Given the description of an element on the screen output the (x, y) to click on. 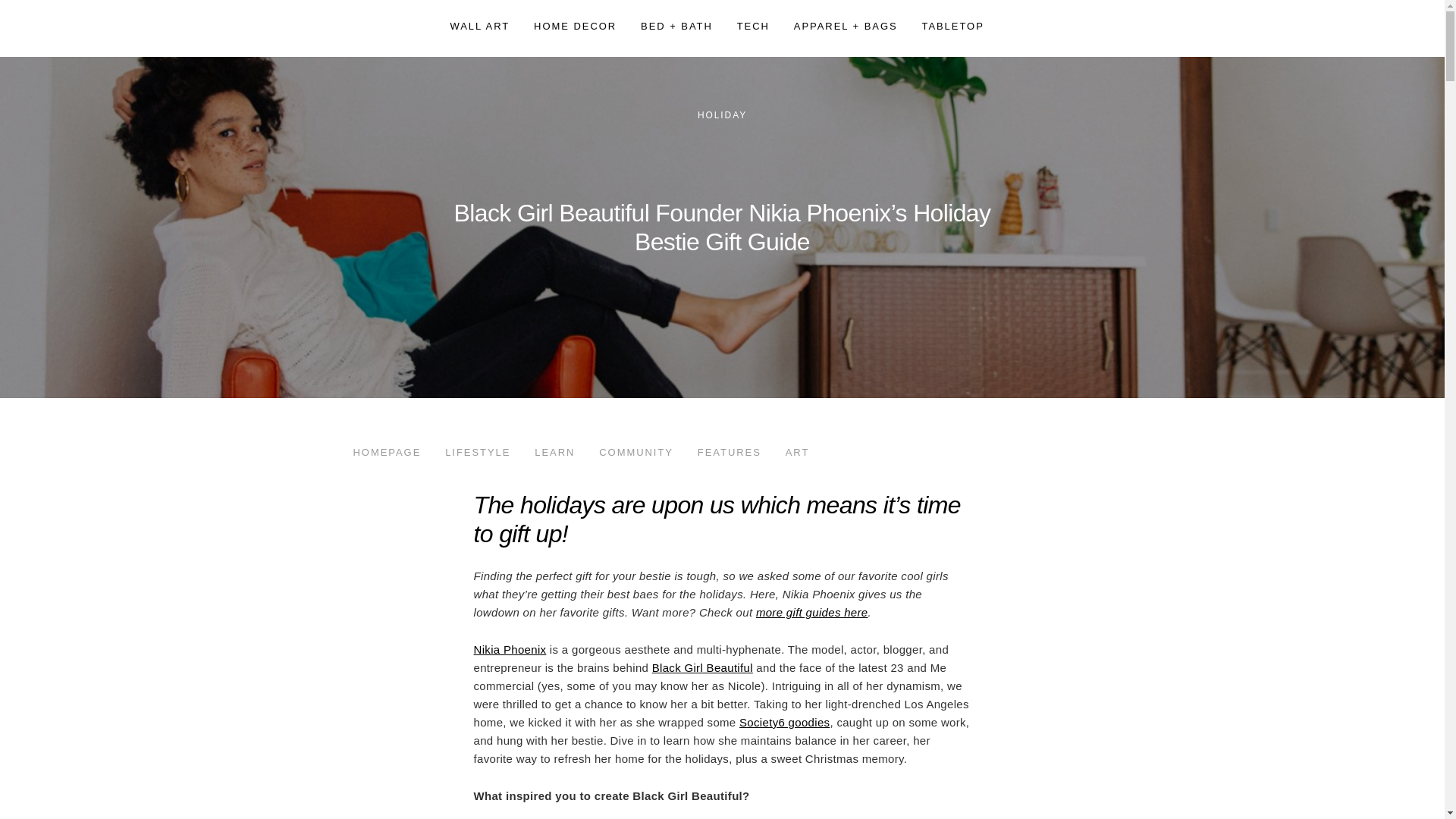
TABLETOP (952, 26)
TECH (753, 26)
LEARN (554, 452)
Nikia Phoenix (509, 649)
HOME DECOR (574, 26)
LIFESTYLE (478, 452)
WALL ART (480, 26)
Society6 Blog (387, 28)
FEATURES (729, 452)
Black Girl Beautiful (702, 667)
